Given the description of an element on the screen output the (x, y) to click on. 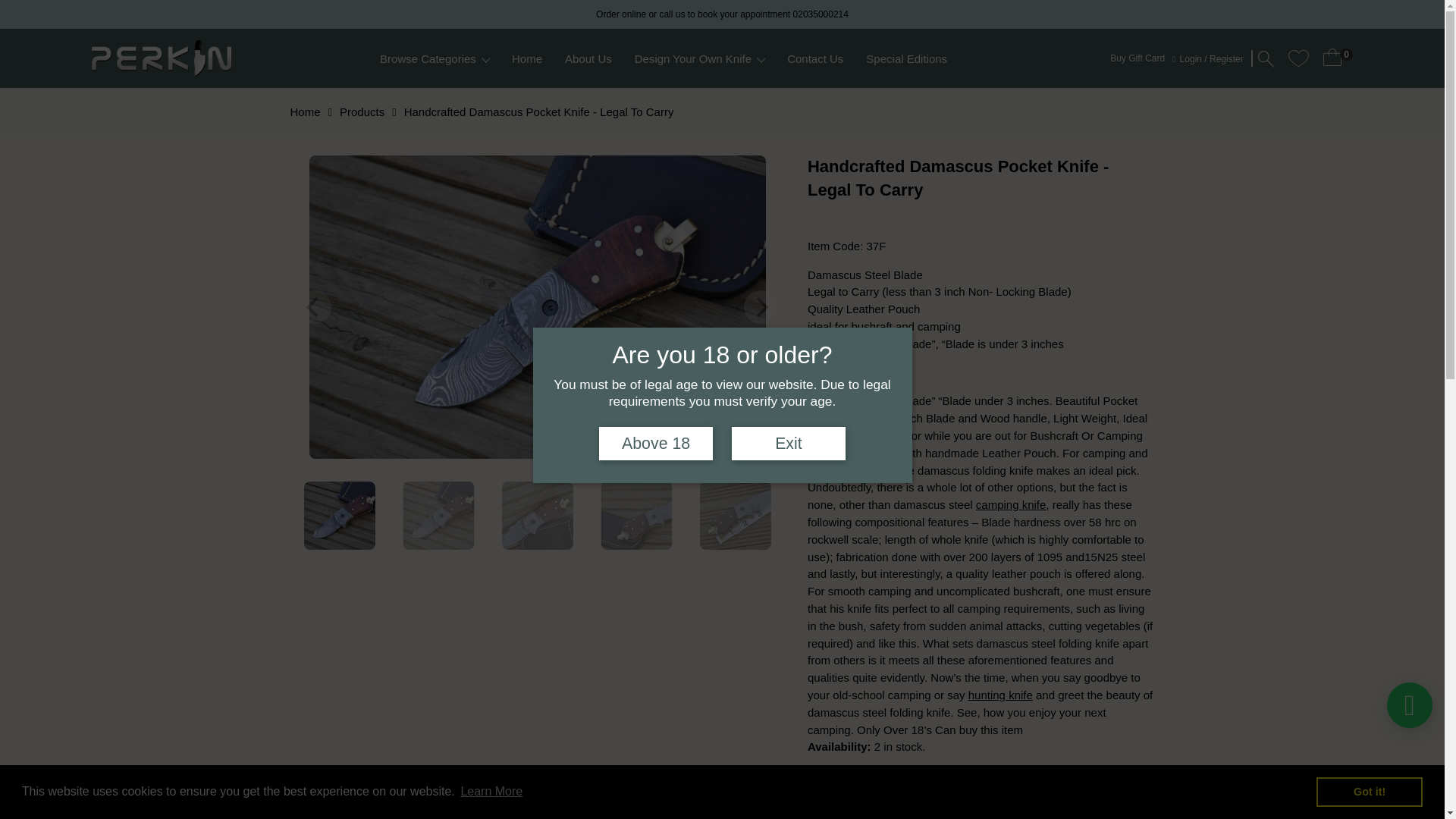
Home (530, 58)
1 (895, 800)
02035000214 (820, 14)
My account (1211, 59)
Got it! (1369, 791)
Browse Categories (437, 58)
Exit (788, 443)
Above 18 (655, 443)
Learn More (491, 791)
About Us (591, 58)
